Given the description of an element on the screen output the (x, y) to click on. 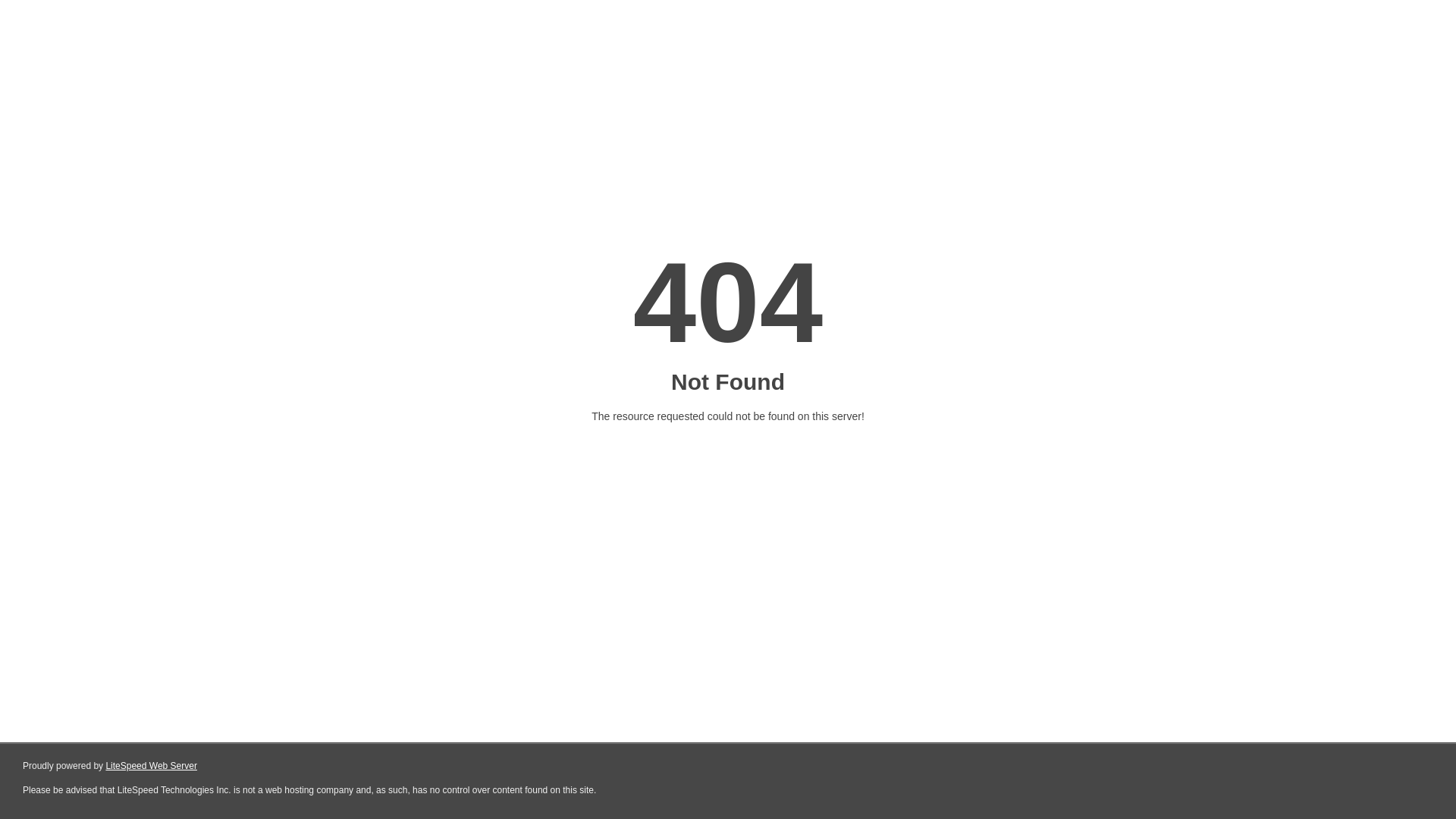
LiteSpeed Web Server Element type: text (151, 765)
